Given the description of an element on the screen output the (x, y) to click on. 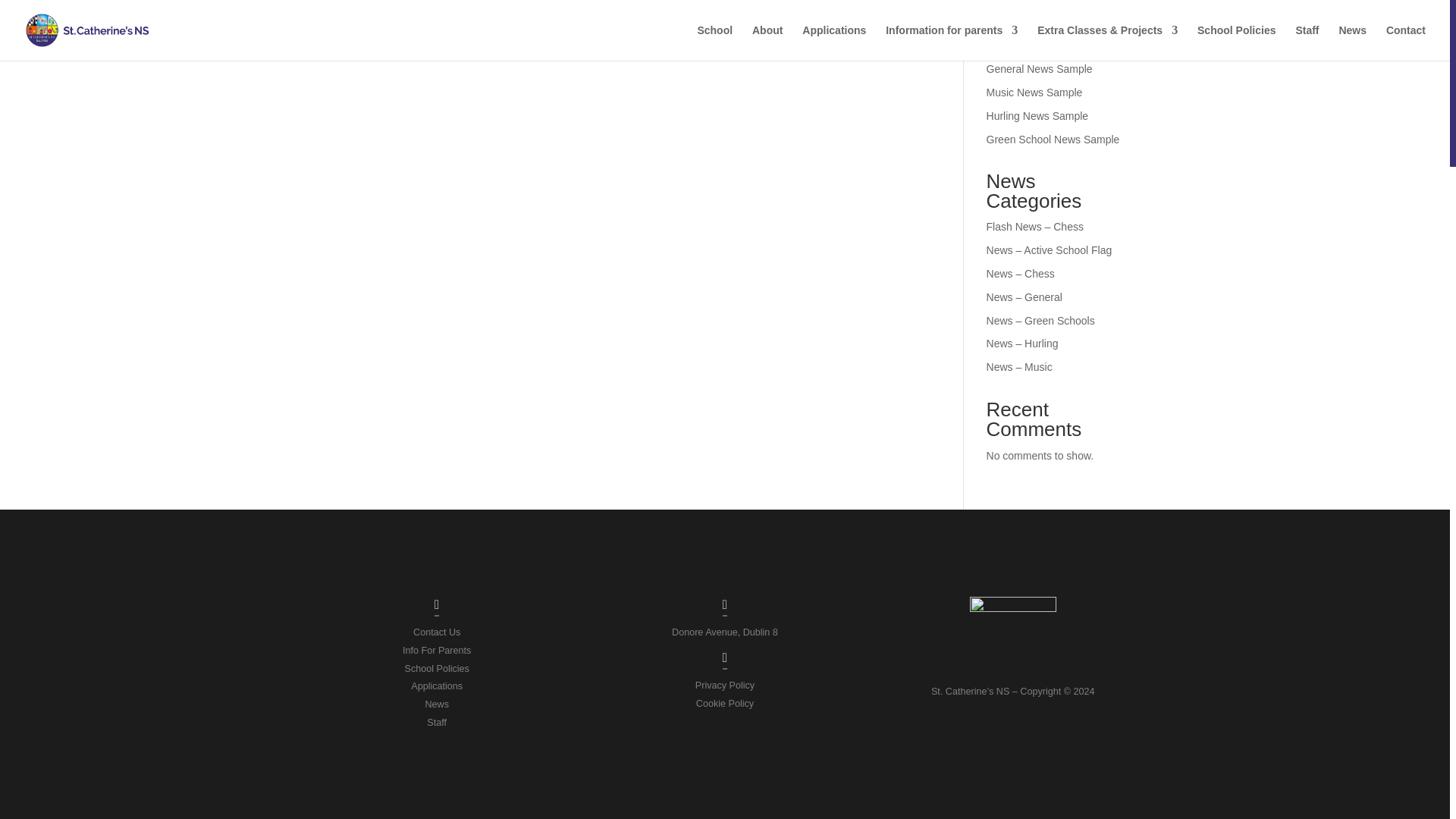
Contact Us (436, 632)
General News Sample (1040, 69)
Info For Parents (436, 650)
Music News Sample (1035, 92)
School Policies (436, 667)
News (436, 704)
Cookie Policy (724, 702)
Green School News Sample (1053, 139)
StCathNS-Logo-114 (1013, 640)
Staff (436, 722)
